Given the description of an element on the screen output the (x, y) to click on. 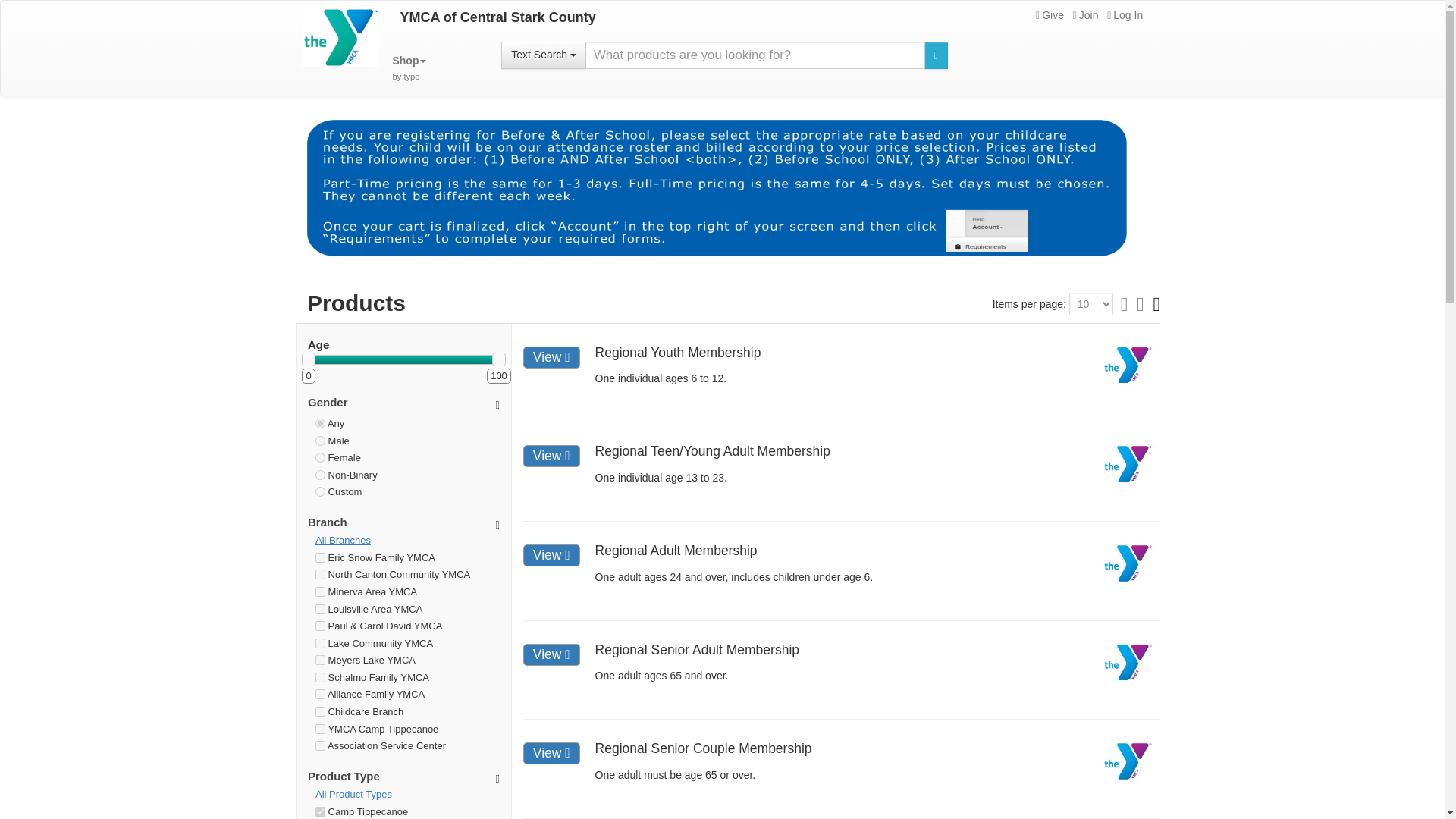
F (319, 457)
All Branches (407, 540)
on (319, 592)
View (550, 357)
Log In (1124, 15)
on (319, 609)
on (319, 677)
M (319, 440)
on (319, 711)
on (319, 660)
on (319, 574)
N (319, 474)
on (409, 68)
on (319, 625)
